Given the description of an element on the screen output the (x, y) to click on. 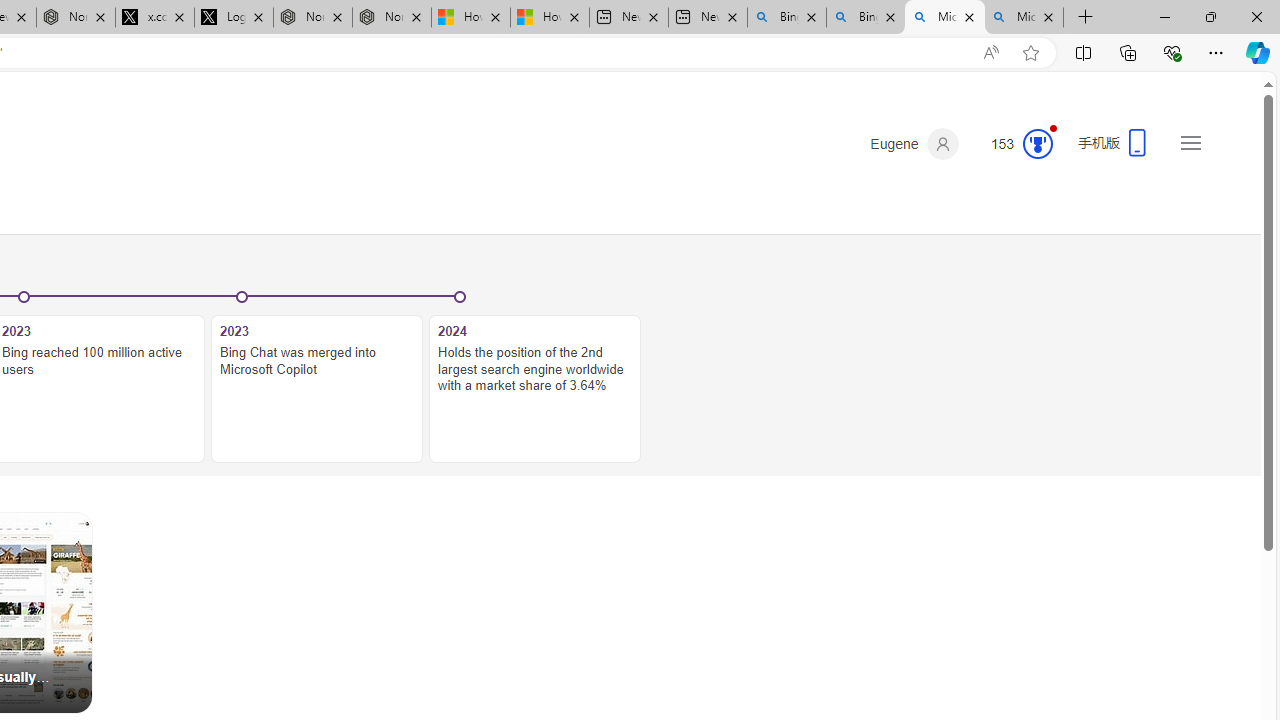
Microsoft Bing Timeline - Search (1023, 17)
Eugene (914, 143)
2023 Bing Chat was merged into Microsoft Copilot (317, 389)
Class: medal-circled (1037, 143)
2023Bing Chat was merged into Microsoft Copilot (317, 378)
Microsoft Rewards 153 (1014, 143)
